Given the description of an element on the screen output the (x, y) to click on. 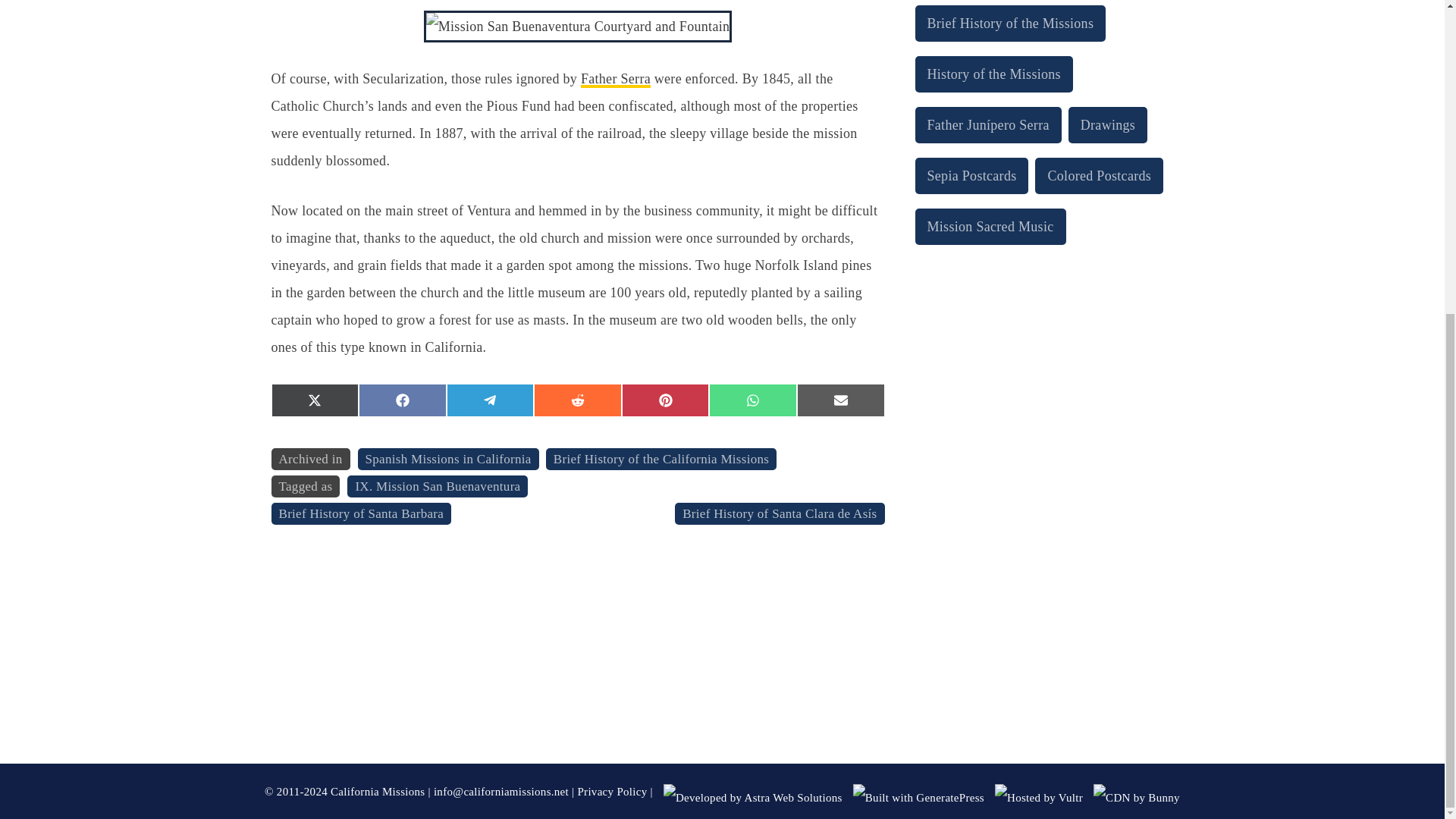
Hosted by Vultr (1038, 797)
CDN by Bunny (1136, 797)
Brief History of San Buenaventura - 2 (577, 26)
Developed by Astra Web Solutions (753, 797)
Built with GeneratePress (918, 797)
